Given the description of an element on the screen output the (x, y) to click on. 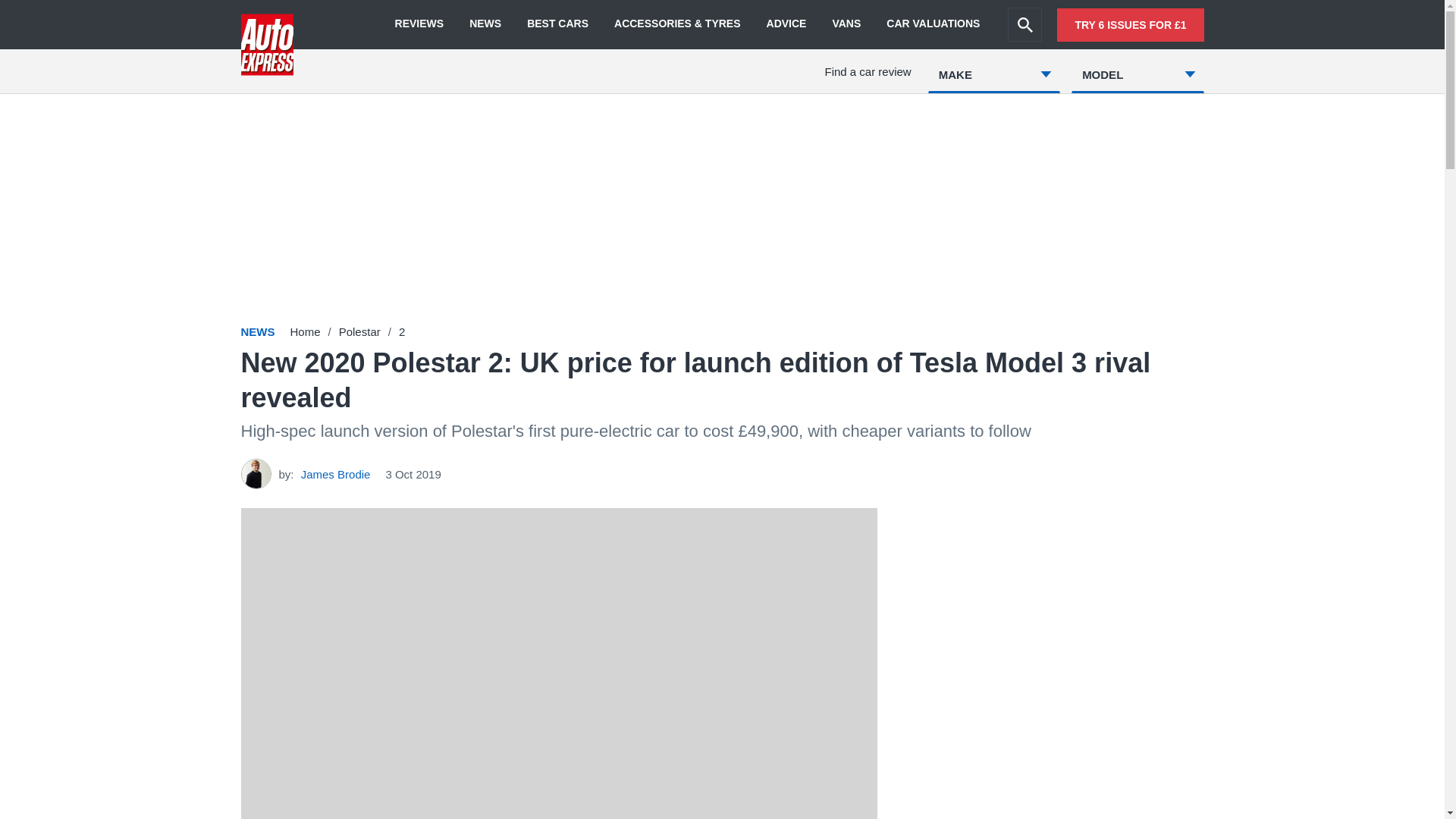
NEWS (485, 24)
Search (1024, 24)
REVIEWS (419, 24)
VANS (845, 24)
CAR VALUATIONS (932, 24)
BEST CARS (557, 24)
James Brodie (336, 472)
Search (1024, 24)
Home (304, 331)
Polestar (359, 331)
2 (401, 331)
ADVICE (786, 24)
